Given the description of an element on the screen output the (x, y) to click on. 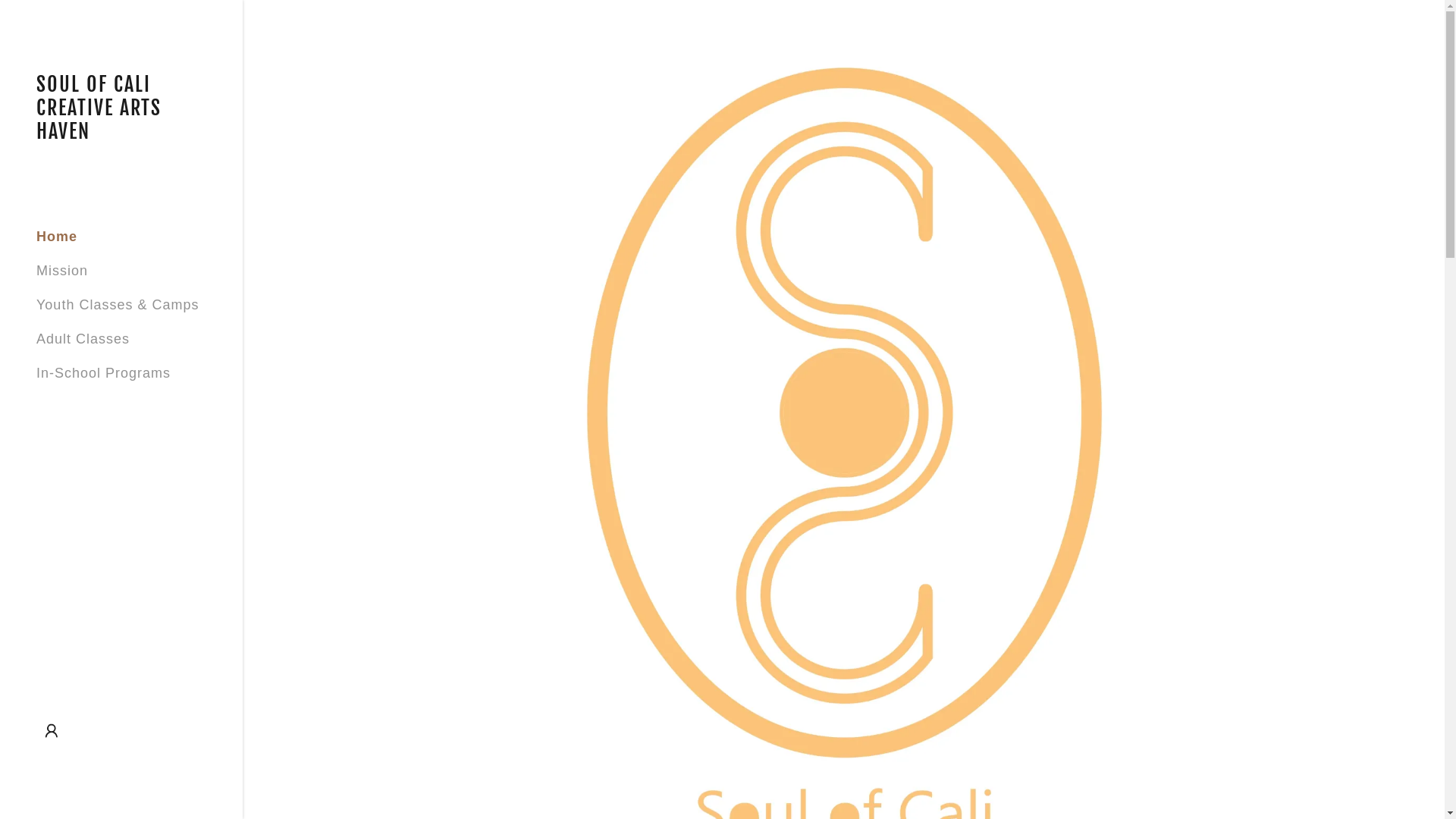
Home Element type: text (56, 236)
SOUL OF CALI
CREATIVE ARTS HAVEN Element type: text (121, 133)
Youth Classes & Camps Element type: text (117, 304)
Adult Classes Element type: text (82, 338)
Mission Element type: text (61, 270)
In-School Programs Element type: text (103, 372)
